Given the description of an element on the screen output the (x, y) to click on. 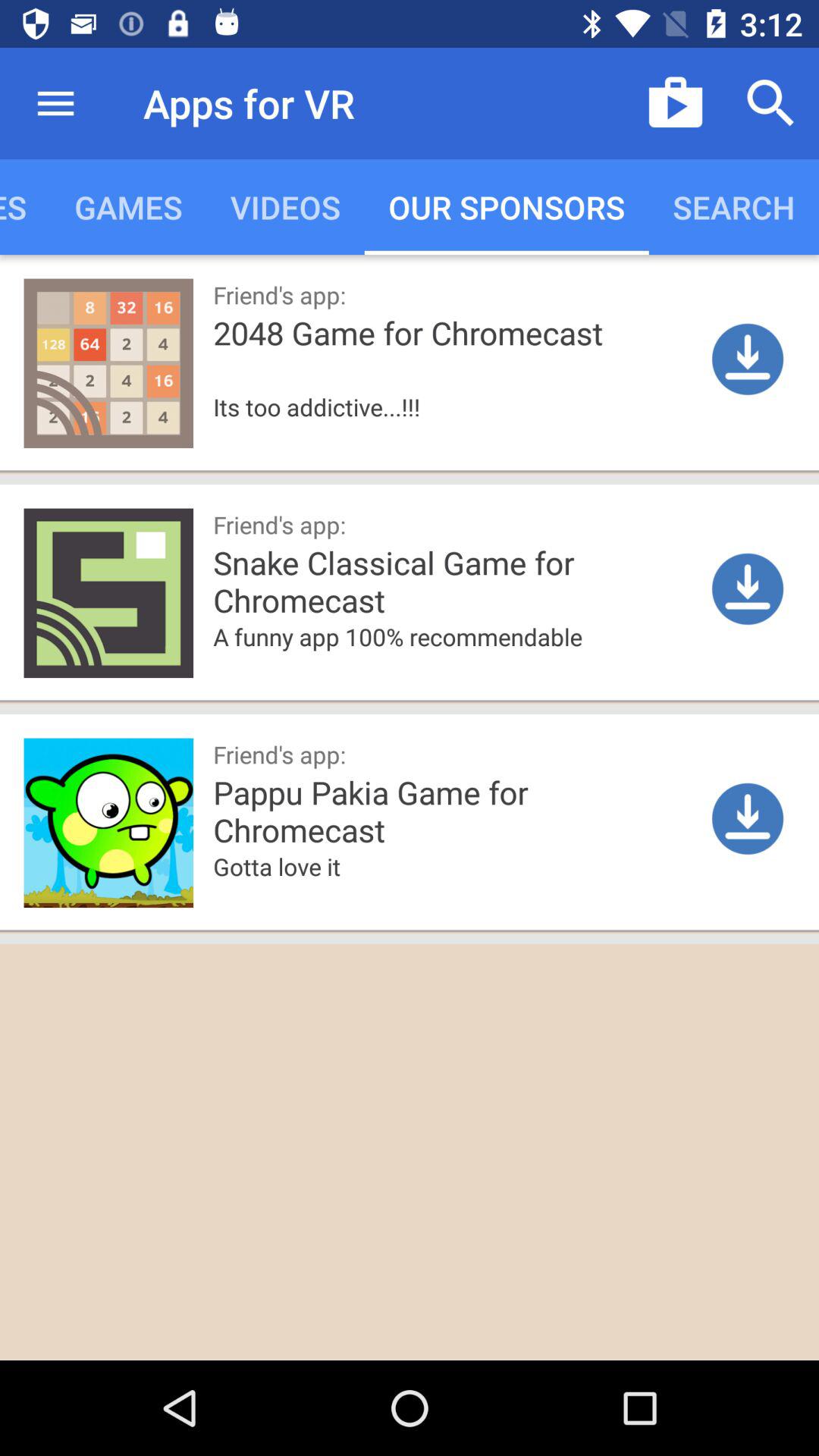
open icon below snake classical game icon (457, 660)
